Given the description of an element on the screen output the (x, y) to click on. 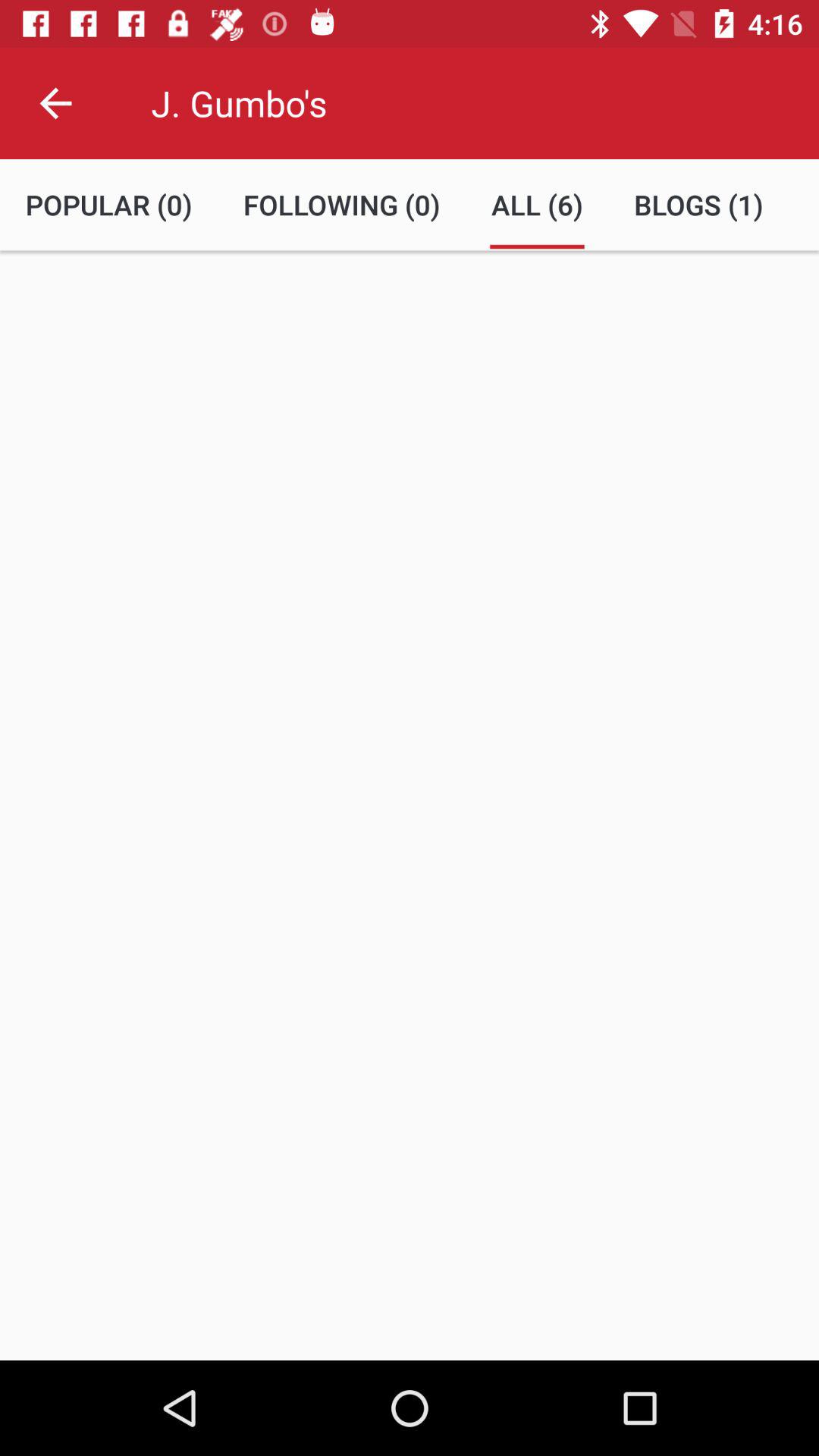
press the icon next to the all (6) item (341, 204)
